Given the description of an element on the screen output the (x, y) to click on. 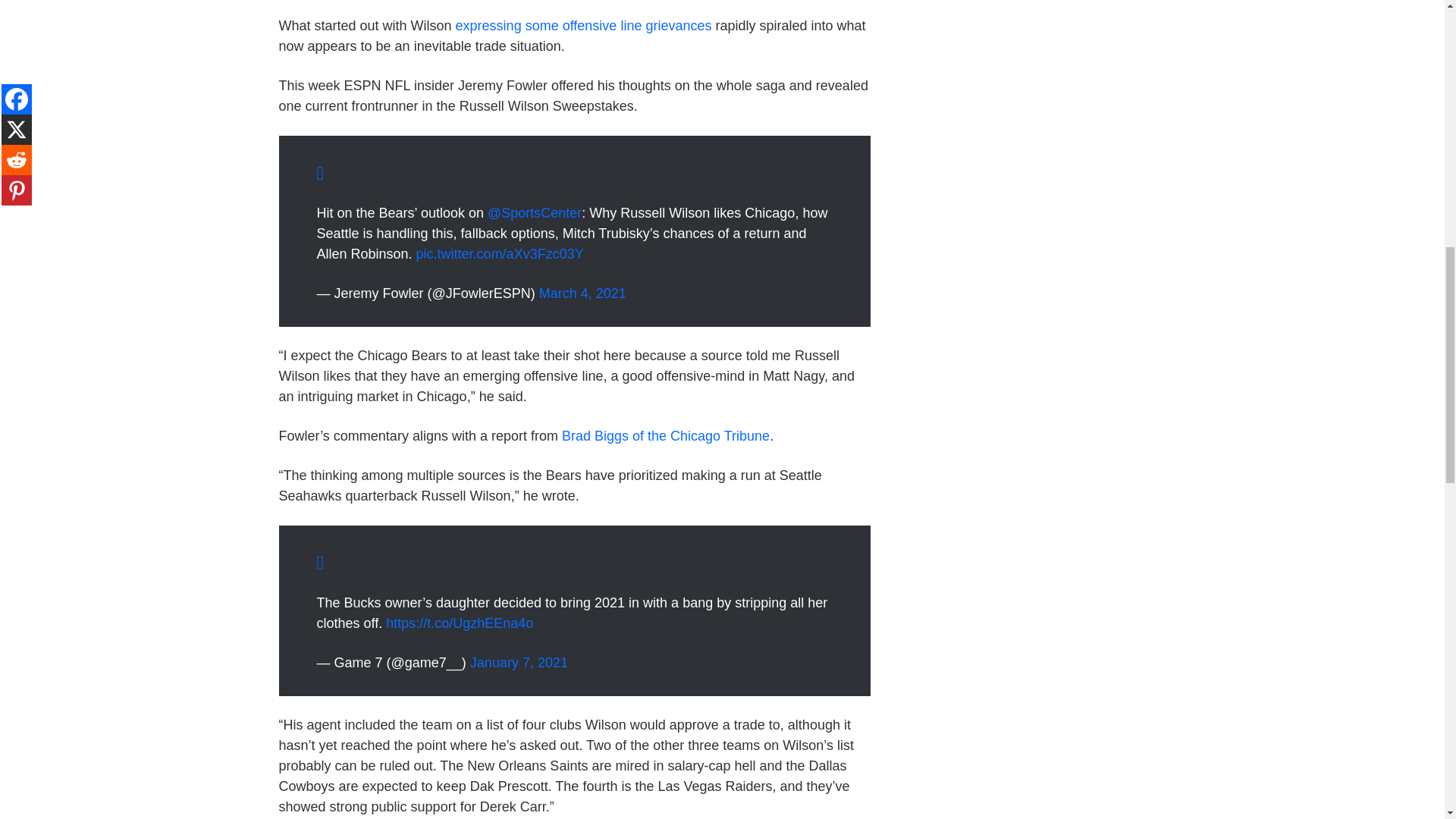
Brad Biggs of the Chicago Tribune (666, 435)
March 4, 2021 (582, 293)
January 7, 2021 (518, 662)
expressing some offensive line grievances (583, 25)
